Given the description of an element on the screen output the (x, y) to click on. 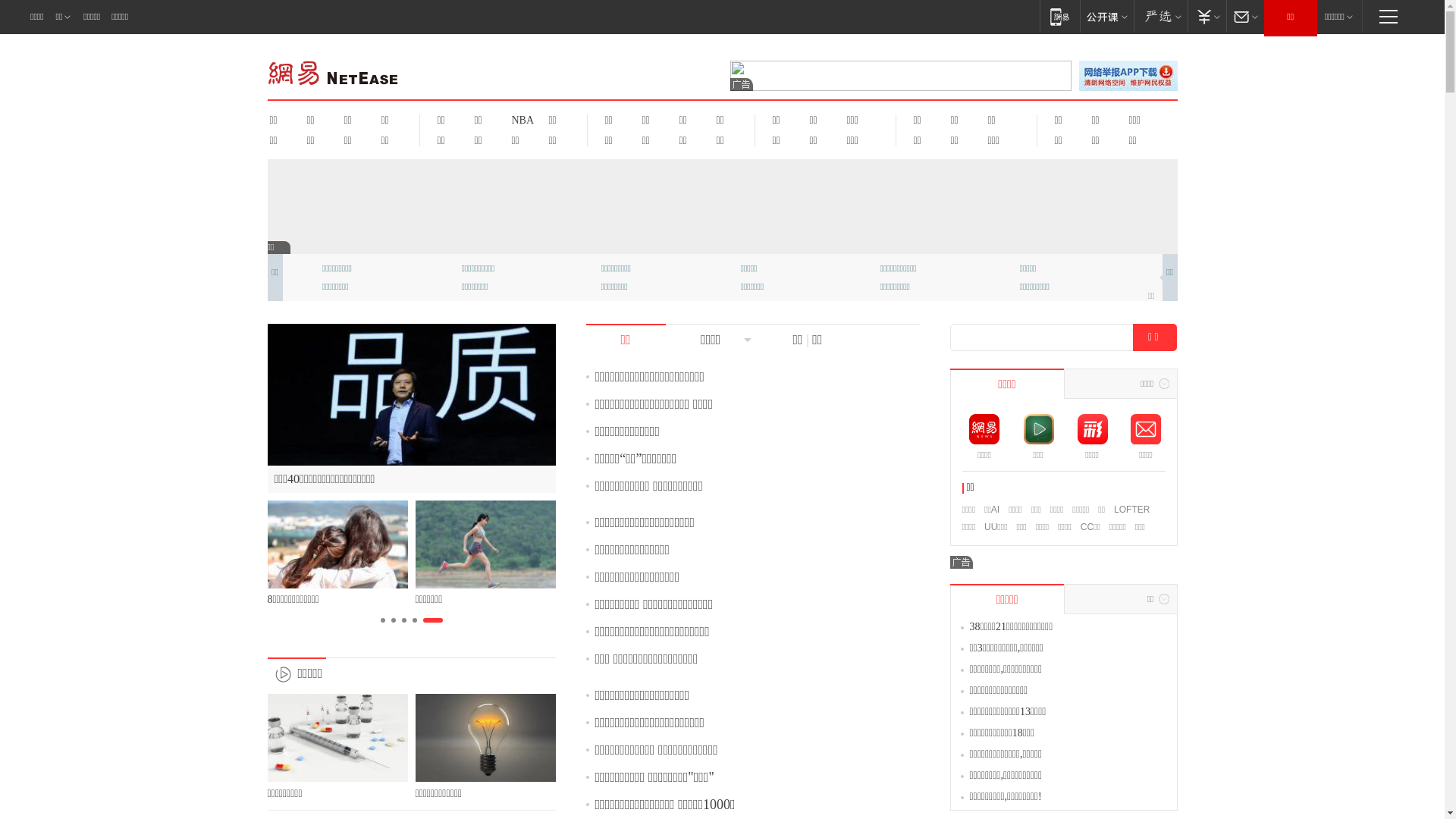
NBA Element type: text (520, 119)
LOFTER Element type: text (1131, 509)
